Given the description of an element on the screen output the (x, y) to click on. 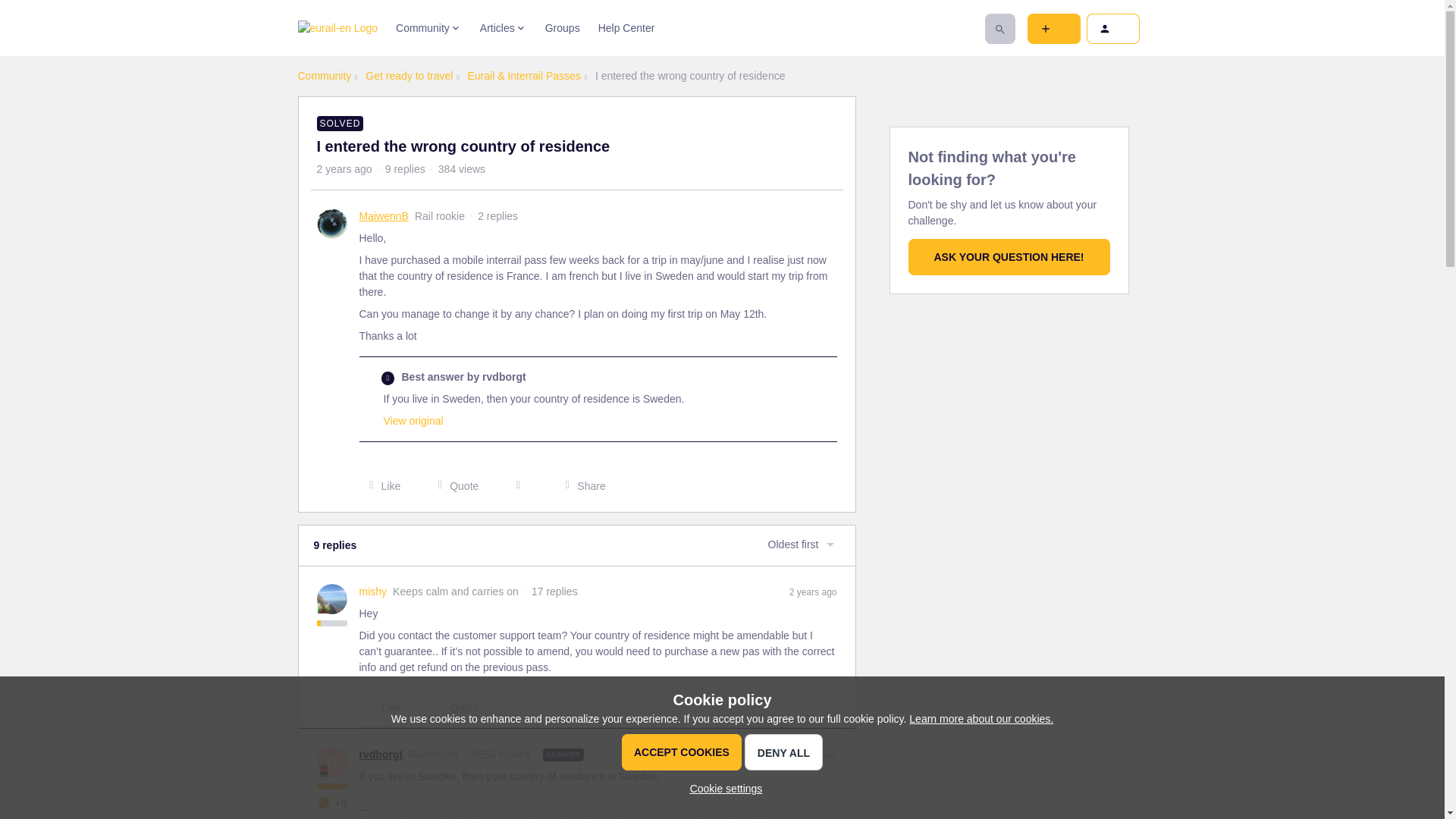
Like (380, 485)
Quote (453, 485)
MaiwennB (384, 216)
Community (323, 75)
Community (428, 28)
Groups (561, 28)
Get ready to travel (408, 75)
Help Center (626, 28)
View original (414, 420)
MaiwennB (384, 216)
mishy (373, 591)
9 replies (405, 168)
Keeps calm and carries on (323, 607)
Articles (503, 28)
